Given the description of an element on the screen output the (x, y) to click on. 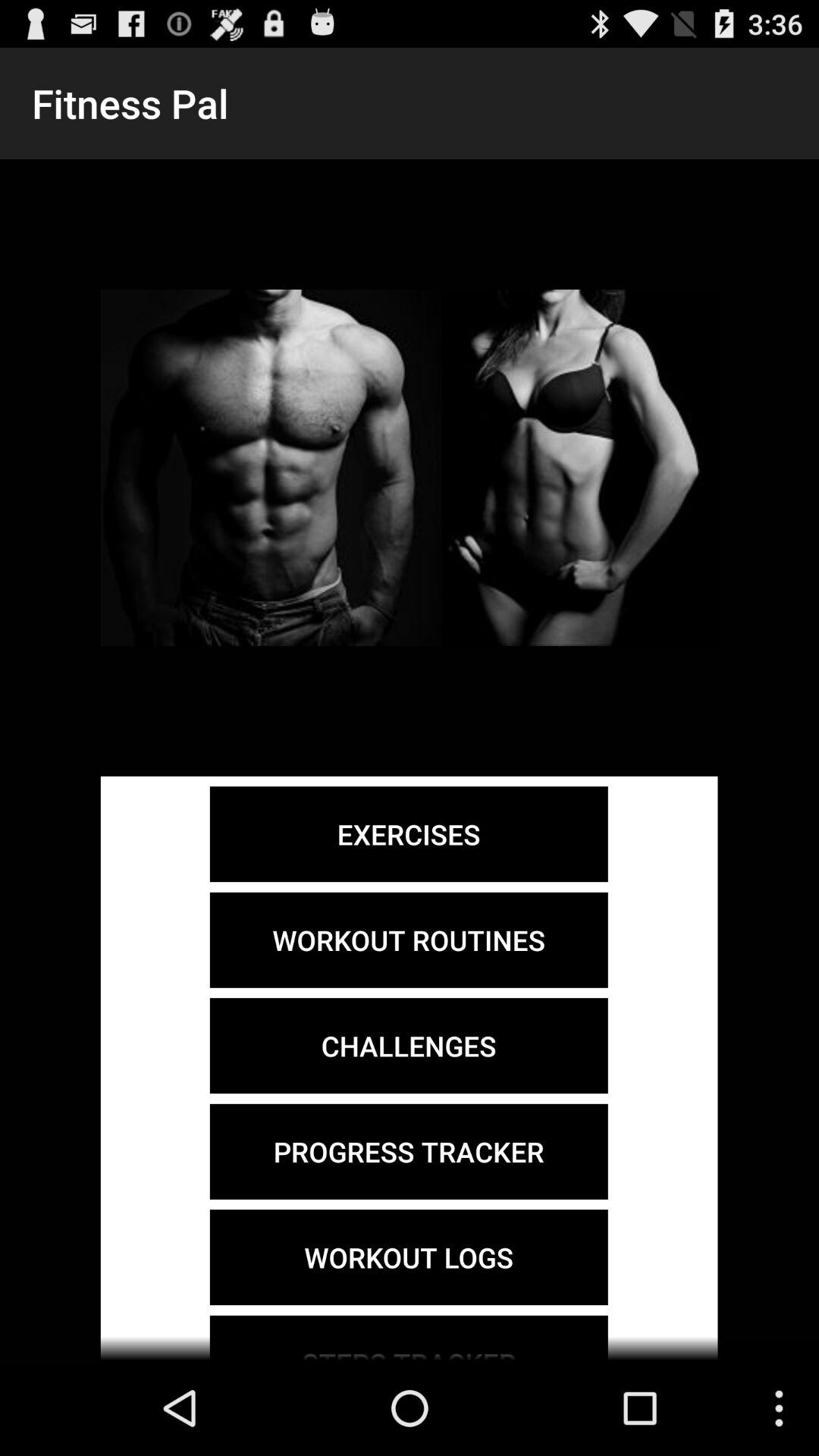
scroll until the steps tracker item (408, 1337)
